Given the description of an element on the screen output the (x, y) to click on. 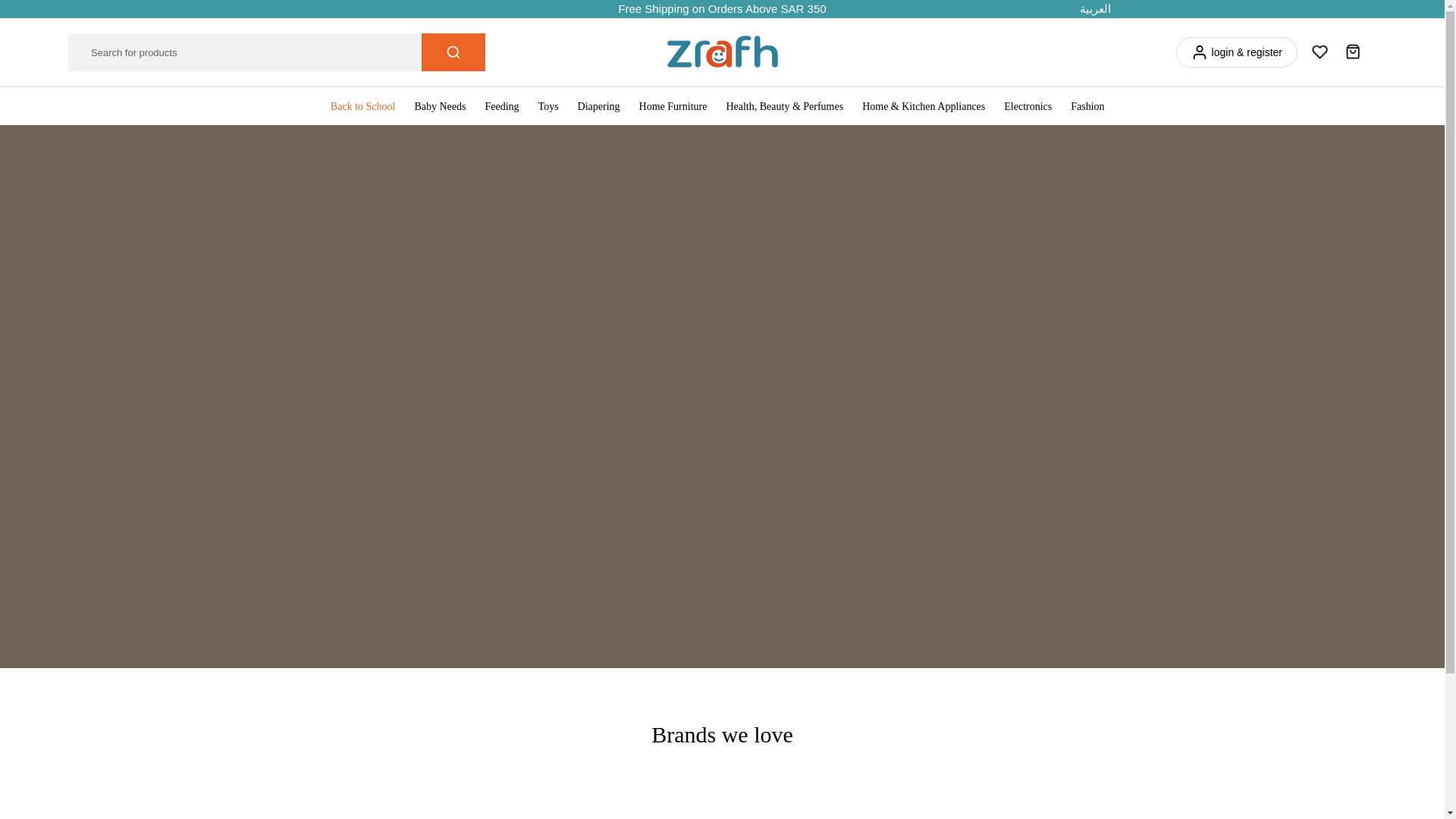
Home Furniture (672, 106)
Feeding (502, 106)
Skip to content (10, 7)
Diapering (597, 106)
Electronics (1027, 106)
Fashion (1087, 106)
Back to School (367, 106)
Toys (547, 106)
Baby Needs (440, 106)
